Given the description of an element on the screen output the (x, y) to click on. 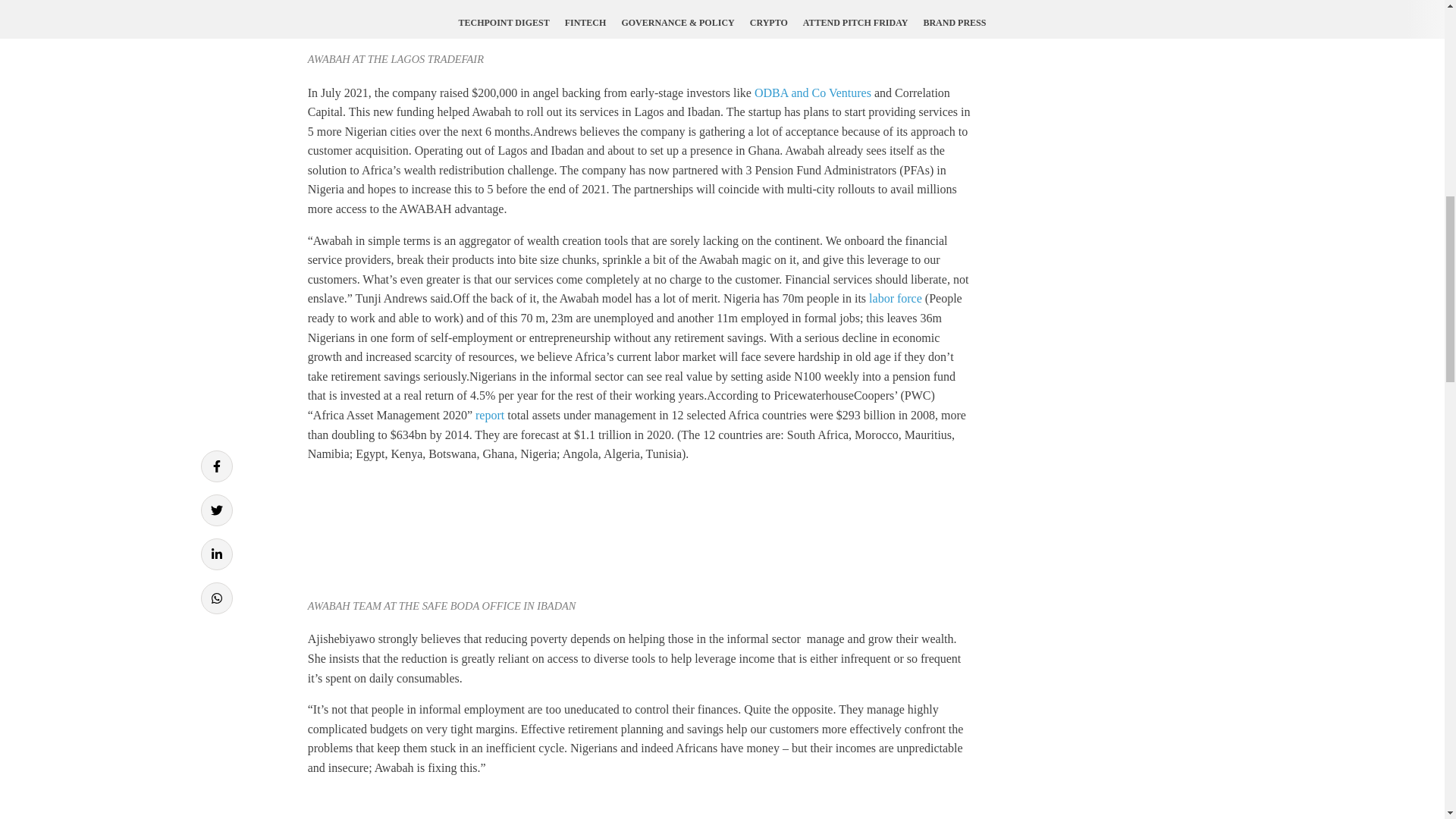
Techstars Backs Awabah 4 (421, 805)
report (489, 414)
ODBA and Co Ventures (812, 92)
Techstars Backs Awabah 3 (421, 535)
Techstars Backs Awabah 2 (421, 22)
labor force (893, 297)
